Given the description of an element on the screen output the (x, y) to click on. 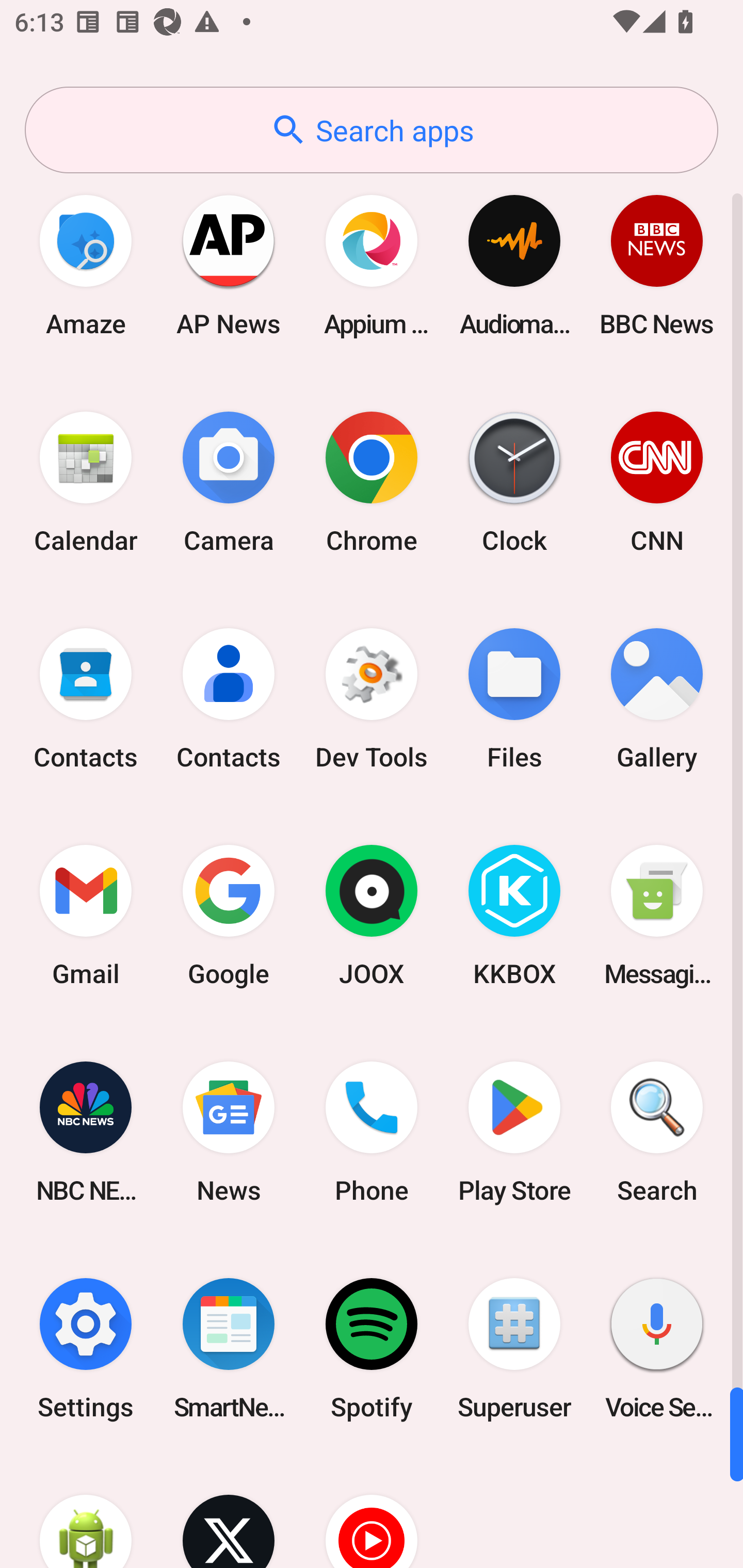
  Search apps (371, 130)
Amaze (85, 264)
AP News (228, 264)
Appium Settings (371, 264)
Audio­mack (514, 264)
BBC News (656, 264)
Calendar (85, 482)
Camera (228, 482)
Chrome (371, 482)
Clock (514, 482)
CNN (656, 482)
Contacts (85, 699)
Contacts (228, 699)
Dev Tools (371, 699)
Files (514, 699)
Gallery (656, 699)
Gmail (85, 915)
Google (228, 915)
JOOX (371, 915)
KKBOX (514, 915)
Messaging (656, 915)
NBC NEWS (85, 1131)
News (228, 1131)
Phone (371, 1131)
Play Store (514, 1131)
Search (656, 1131)
Settings (85, 1348)
SmartNews (228, 1348)
Spotify (371, 1348)
Superuser (514, 1348)
Voice Search (656, 1348)
WebView Browser Tester (85, 1512)
X (228, 1512)
YT Music (371, 1512)
